Given the description of an element on the screen output the (x, y) to click on. 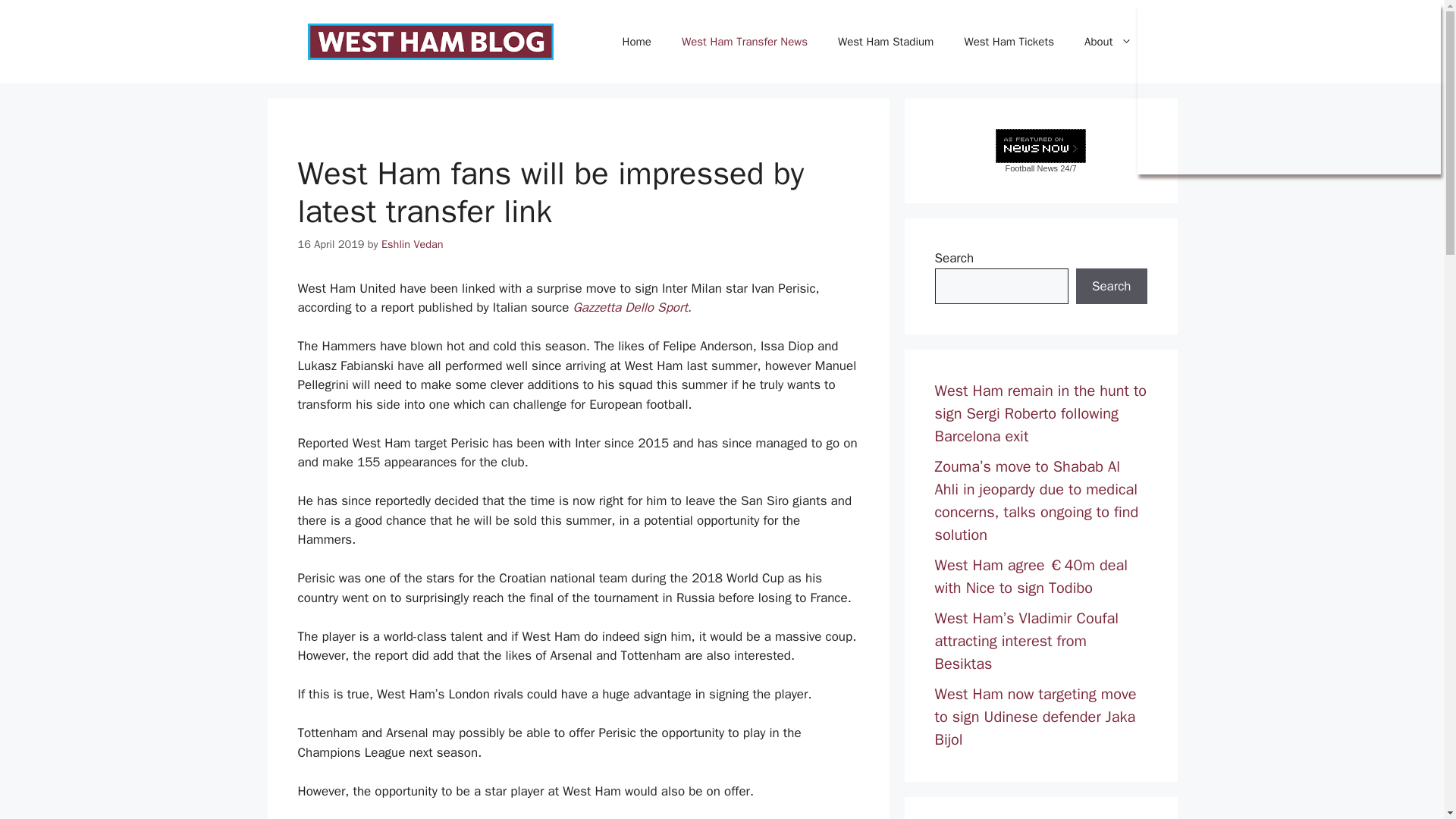
Click here for more Football news from NewsNow (1040, 150)
Gazzetta Dello Sport. (631, 307)
West Ham Stadium (885, 41)
View all posts by Eshlin Vedan (412, 243)
West Ham Transfer News (744, 41)
Home (636, 41)
About (1107, 41)
Search (1111, 286)
